Given the description of an element on the screen output the (x, y) to click on. 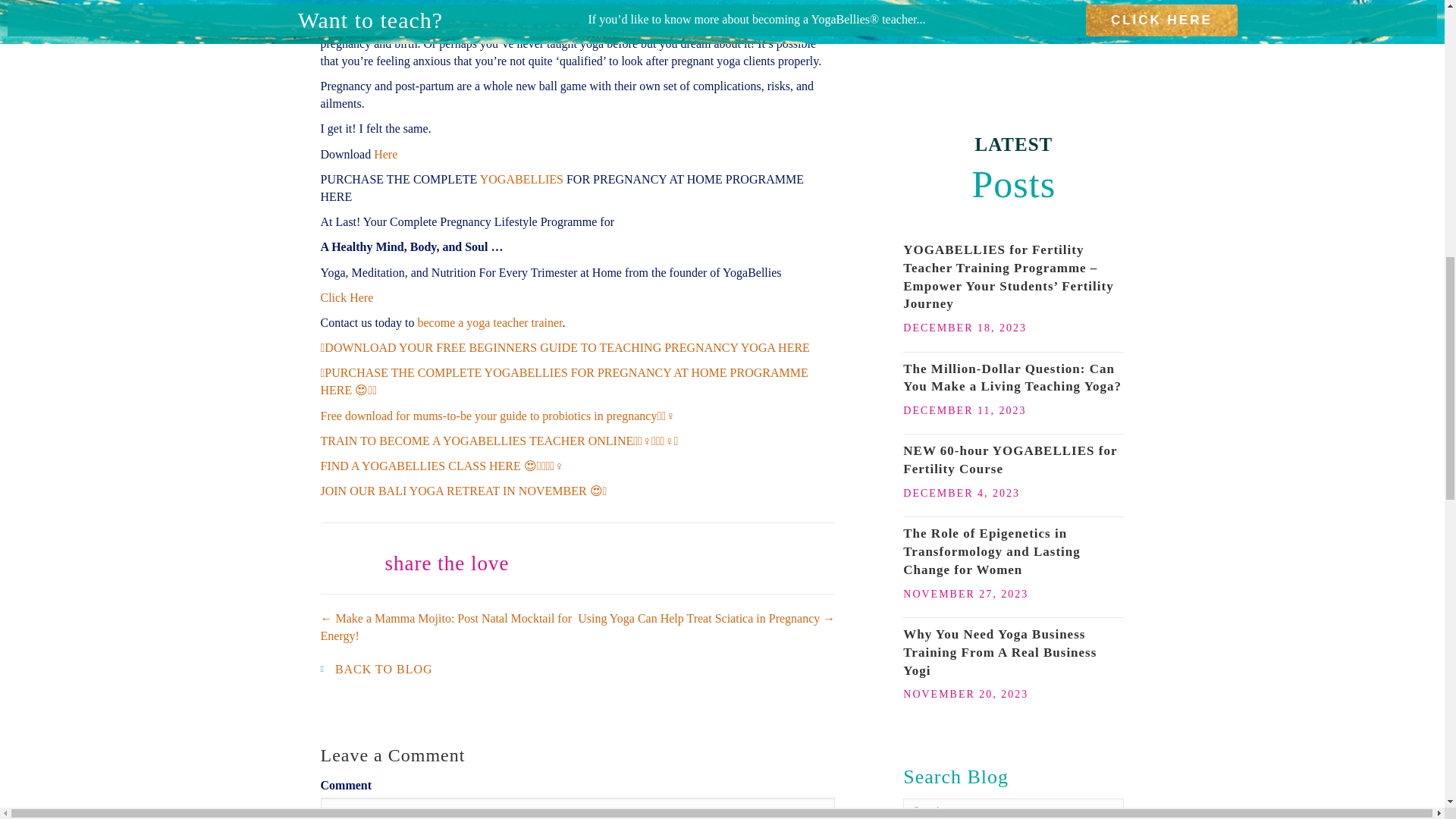
NEW 60-hour YOGABELLIES for Fertility Course (1009, 459)
Type and press Enter to search. (1013, 808)
